Given the description of an element on the screen output the (x, y) to click on. 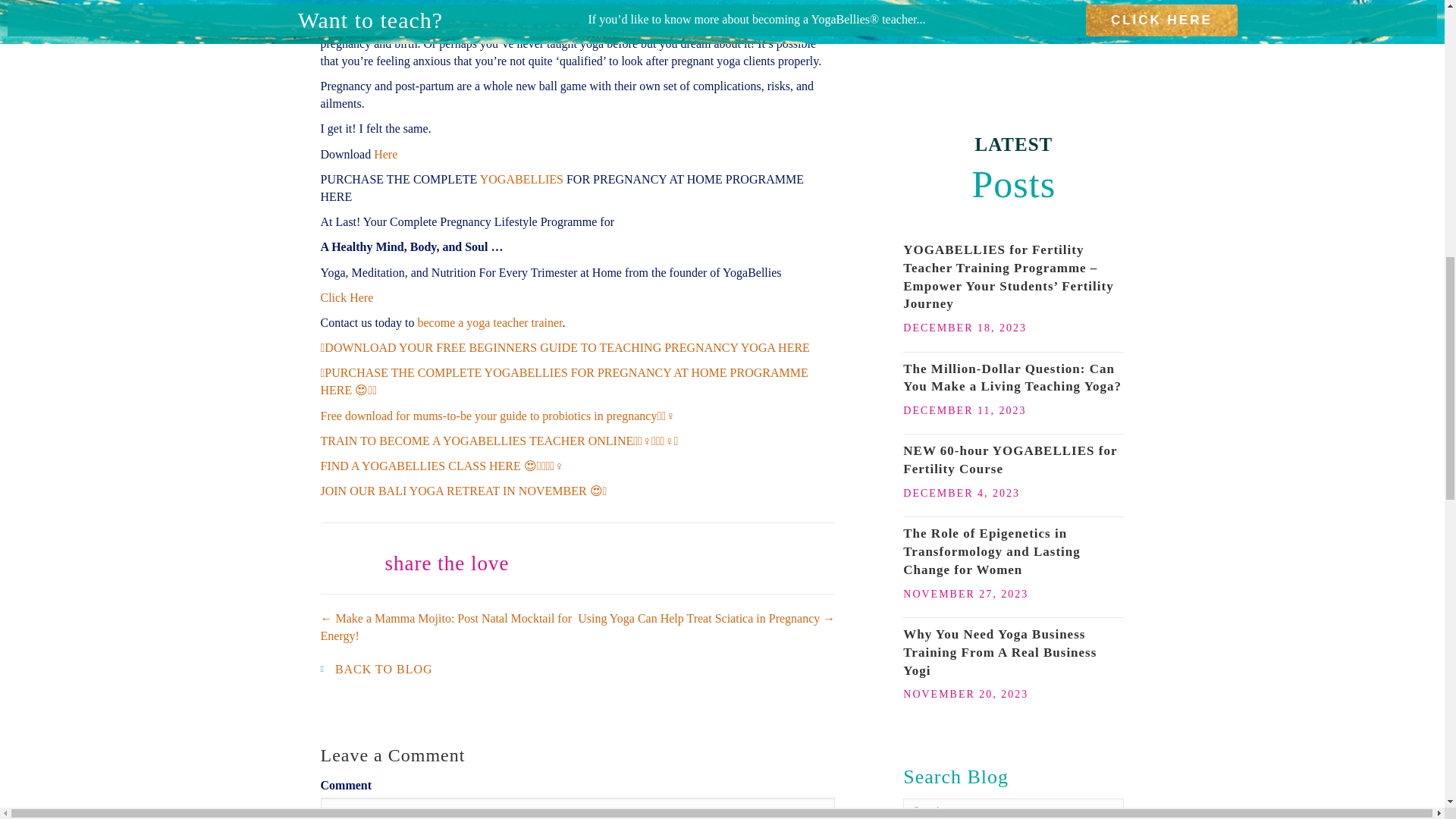
NEW 60-hour YOGABELLIES for Fertility Course (1009, 459)
Type and press Enter to search. (1013, 808)
